Given the description of an element on the screen output the (x, y) to click on. 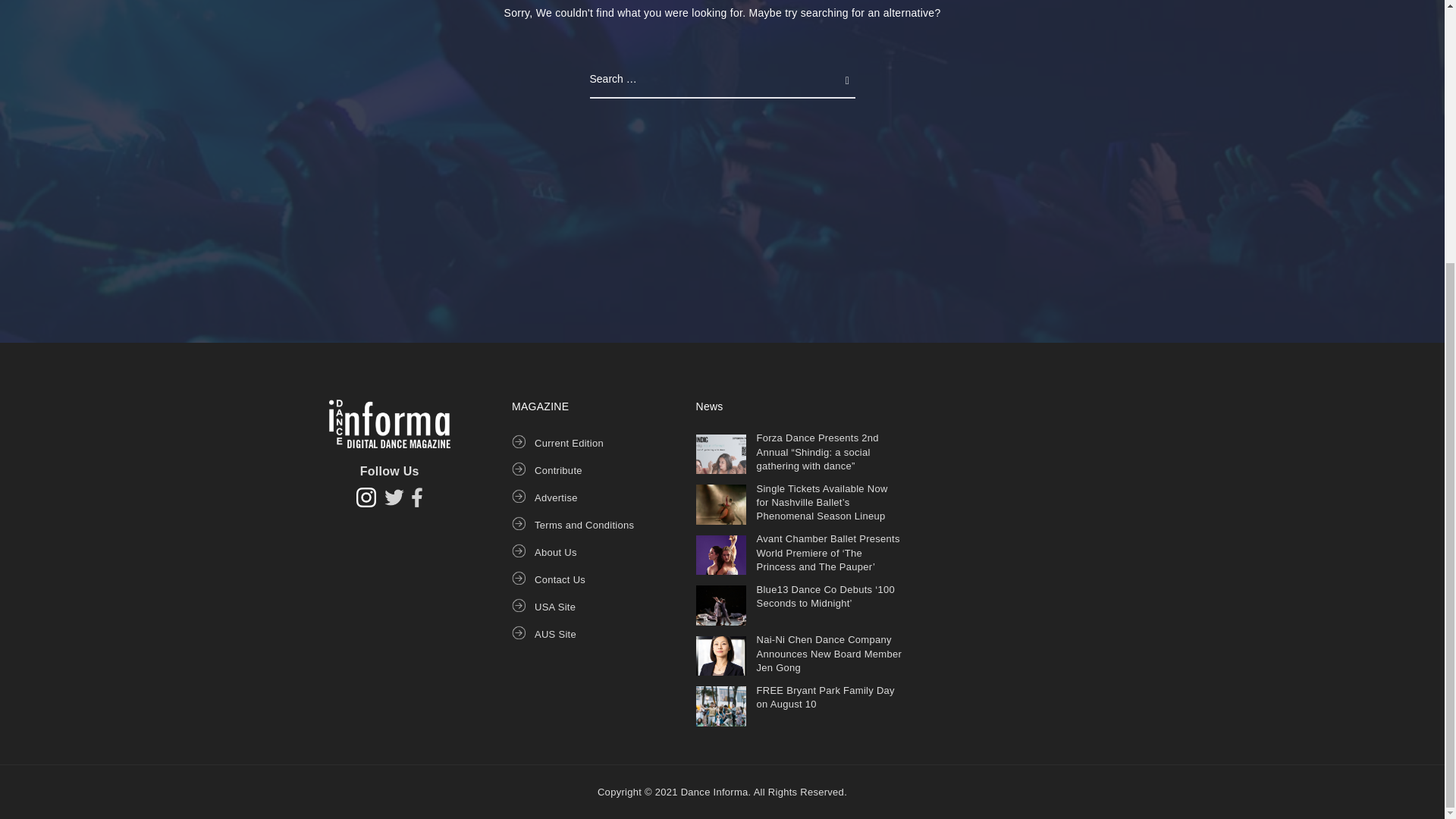
Contact Us (559, 579)
USA Site (554, 606)
FREE Bryant Park Family Day on August 10 (826, 697)
AUS Site (555, 633)
Advertise (556, 497)
About Us (555, 552)
Terms and Conditions (583, 524)
Contribute (558, 470)
Current Edition (569, 442)
